Given the description of an element on the screen output the (x, y) to click on. 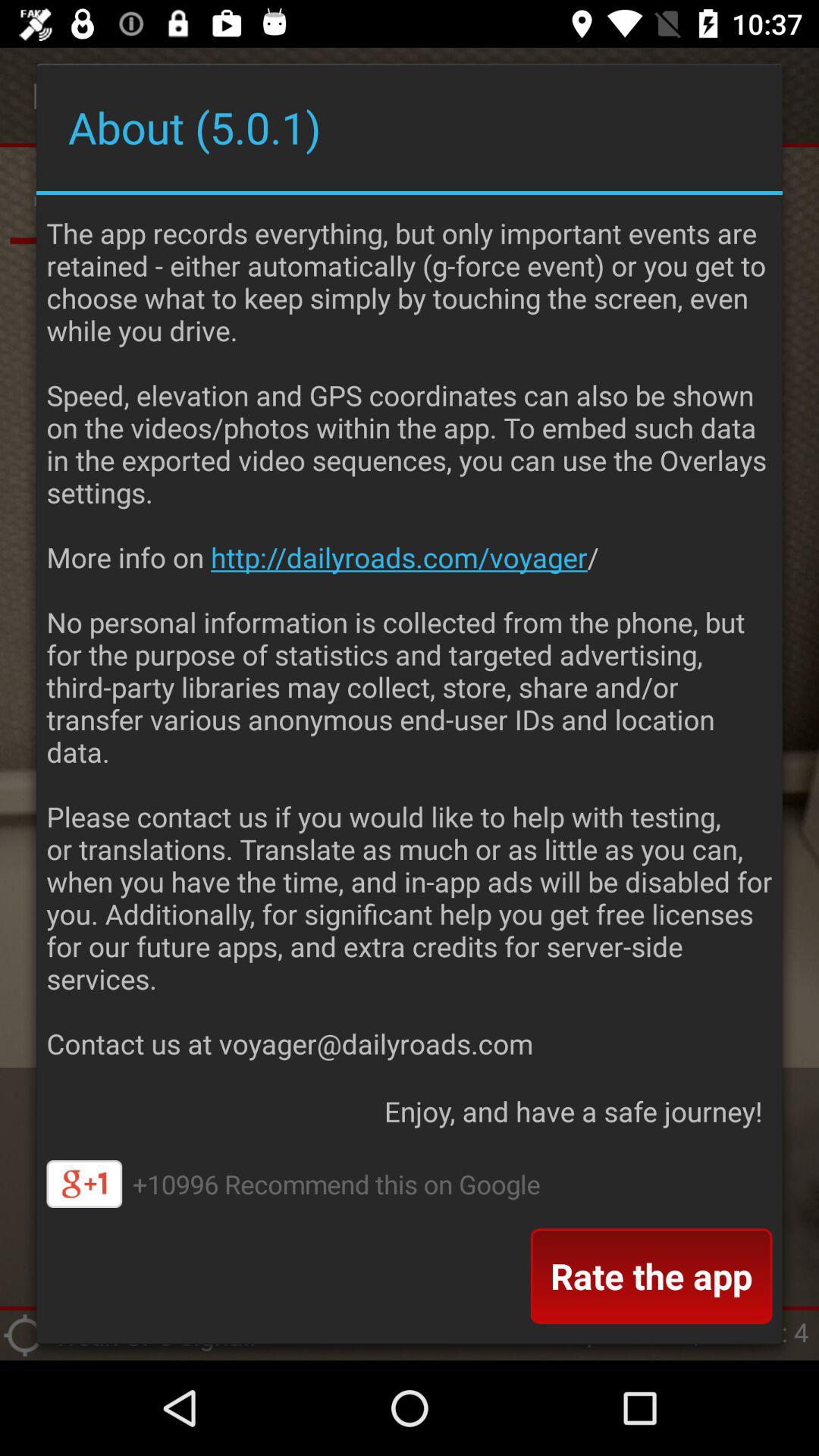
choose dailyroads voyager allows item (409, 633)
